Given the description of an element on the screen output the (x, y) to click on. 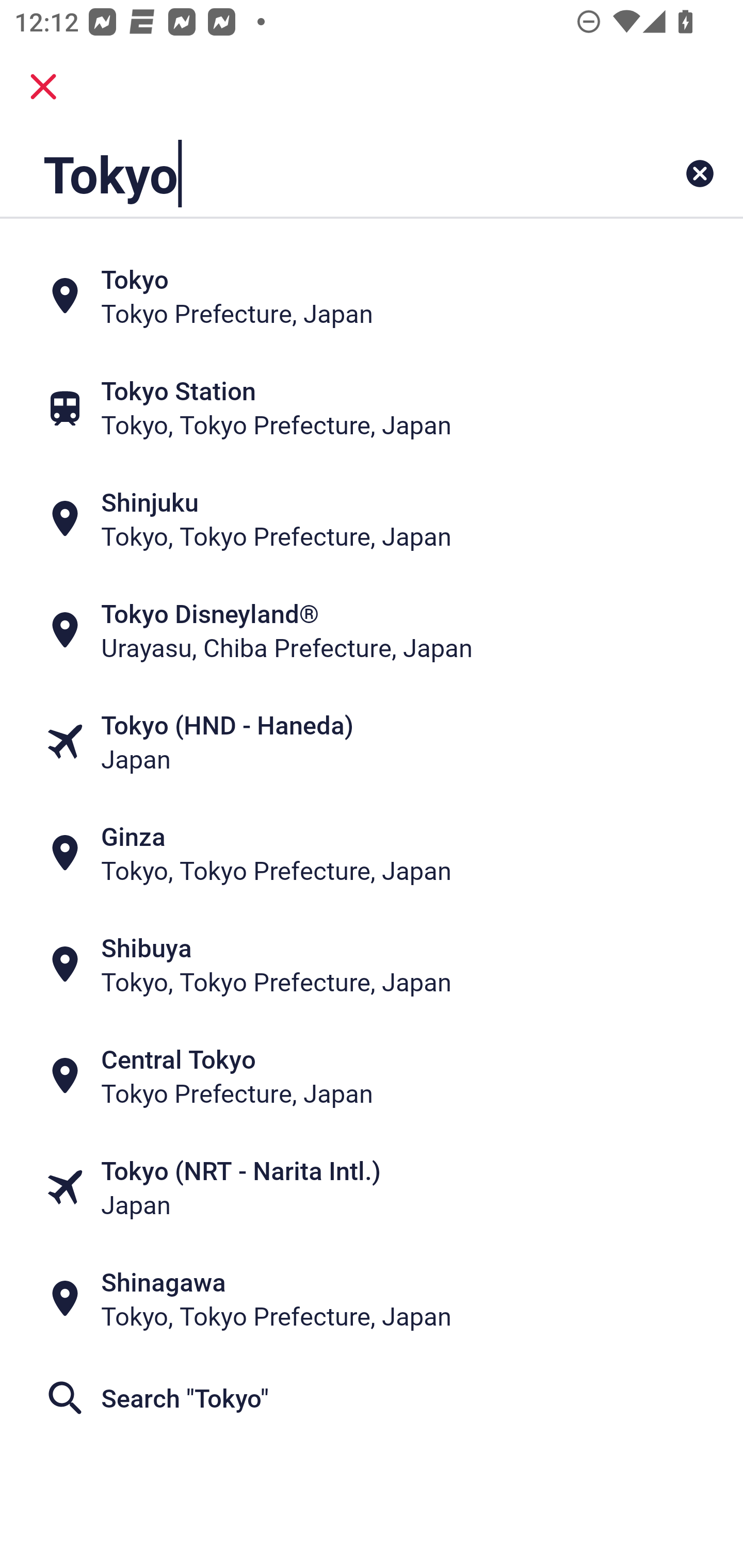
close. (43, 86)
Clear (699, 173)
Tokyo (306, 173)
Tokyo Tokyo Prefecture, Japan (371, 295)
Tokyo Station Tokyo, Tokyo Prefecture, Japan (371, 406)
Shinjuku Tokyo, Tokyo Prefecture, Japan (371, 517)
Tokyo Disneyland® Urayasu, Chiba Prefecture, Japan (371, 629)
Tokyo (HND - Haneda) Japan (371, 742)
Ginza Tokyo, Tokyo Prefecture, Japan (371, 853)
Shibuya Tokyo, Tokyo Prefecture, Japan (371, 964)
Central Tokyo Tokyo Prefecture, Japan (371, 1076)
Tokyo (NRT - Narita Intl.) Japan (371, 1187)
Shinagawa Tokyo, Tokyo Prefecture, Japan (371, 1298)
Search "Tokyo" (371, 1397)
